Given the description of an element on the screen output the (x, y) to click on. 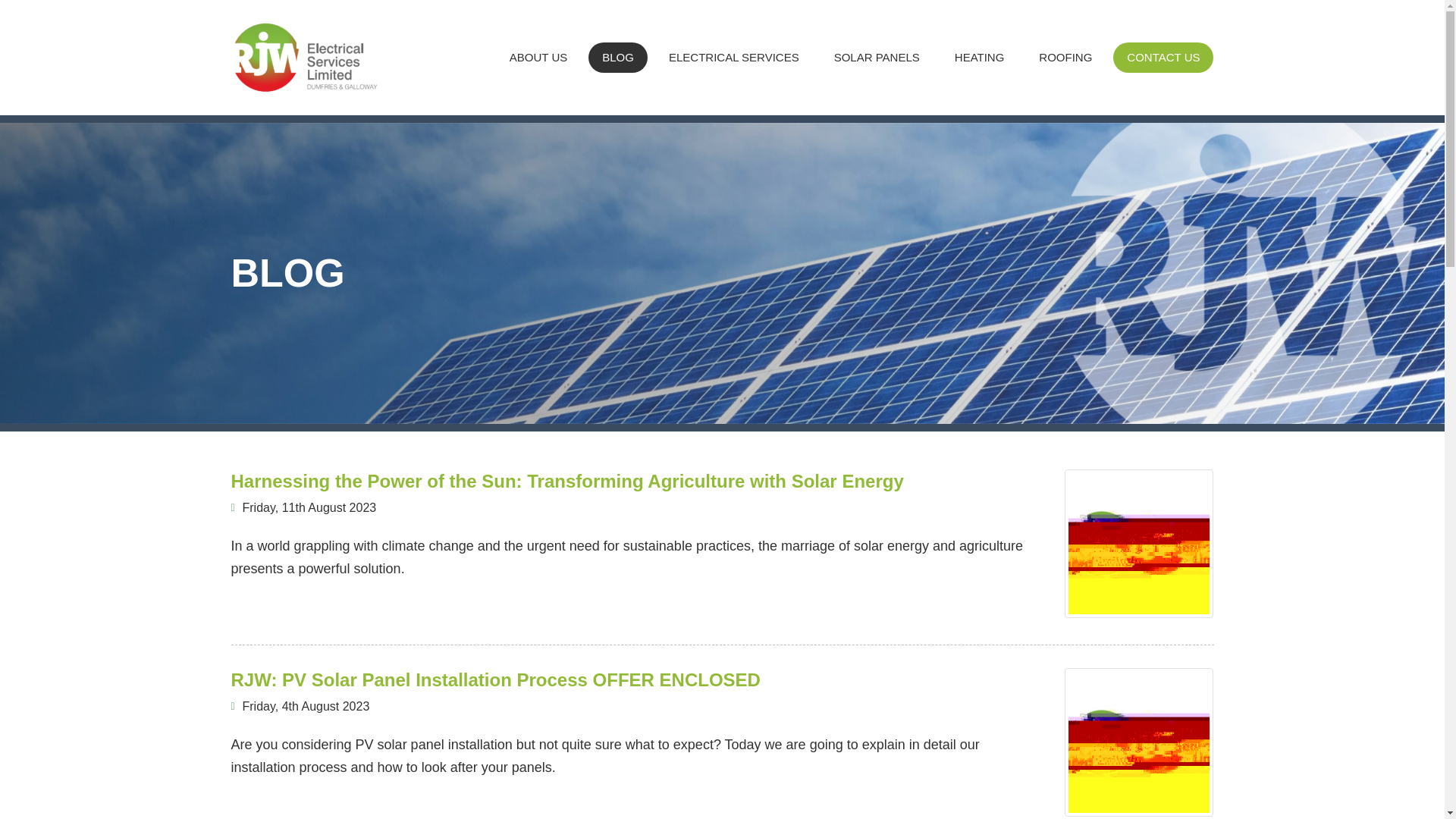
ELECTRICAL SERVICES (733, 56)
CONTACT US (1162, 56)
HEATING (978, 56)
RJW: PV Solar Panel Installation Process OFFER ENCLOSED (1138, 741)
RJW: PV Solar Panel Installation Process OFFER ENCLOSED (495, 679)
BLOG (617, 56)
SOLAR PANELS (877, 56)
ROOFING (1065, 56)
Read More (264, 808)
ABOUT US (538, 56)
Read More (264, 610)
RJW: PV Solar Panel Installation Process OFFER ENCLOSED (495, 679)
